Given the description of an element on the screen output the (x, y) to click on. 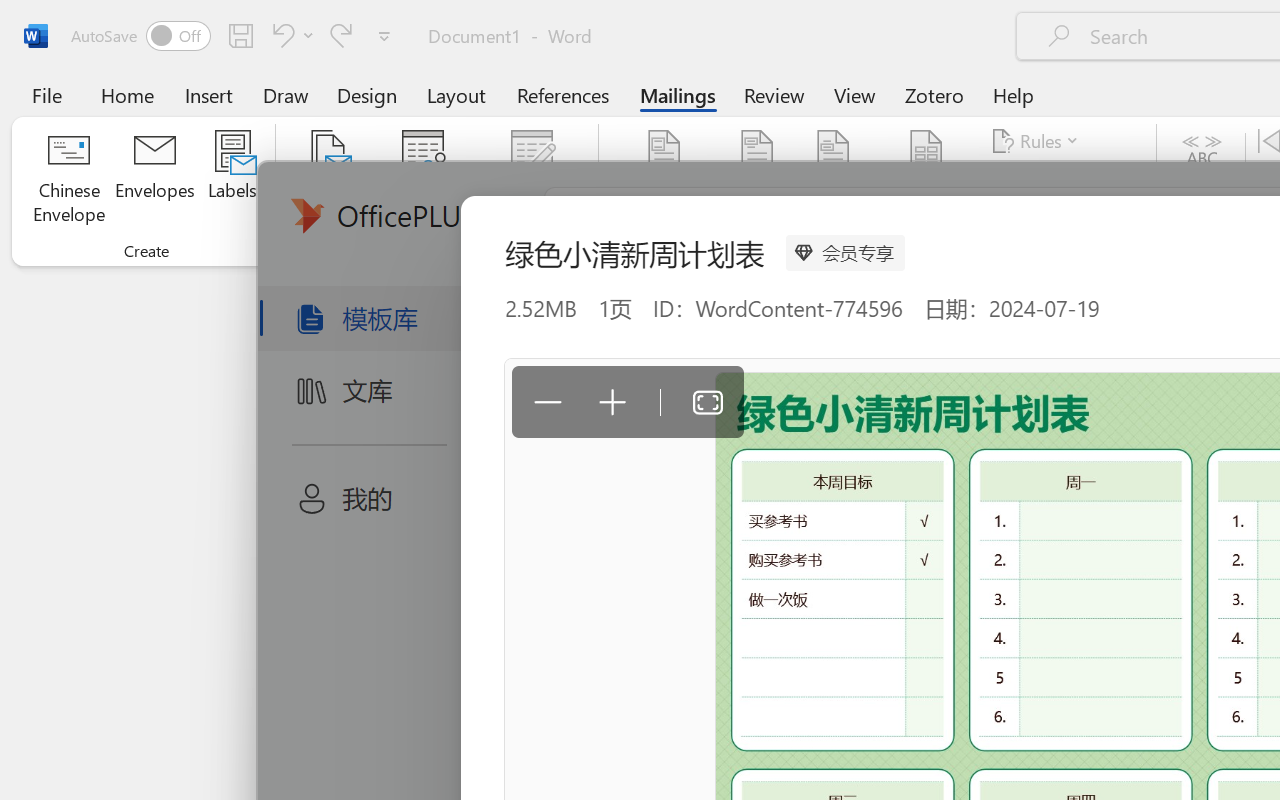
Undo Apply Quick Style Set (280, 35)
Envelopes... (155, 179)
Rules (1037, 141)
